Given the description of an element on the screen output the (x, y) to click on. 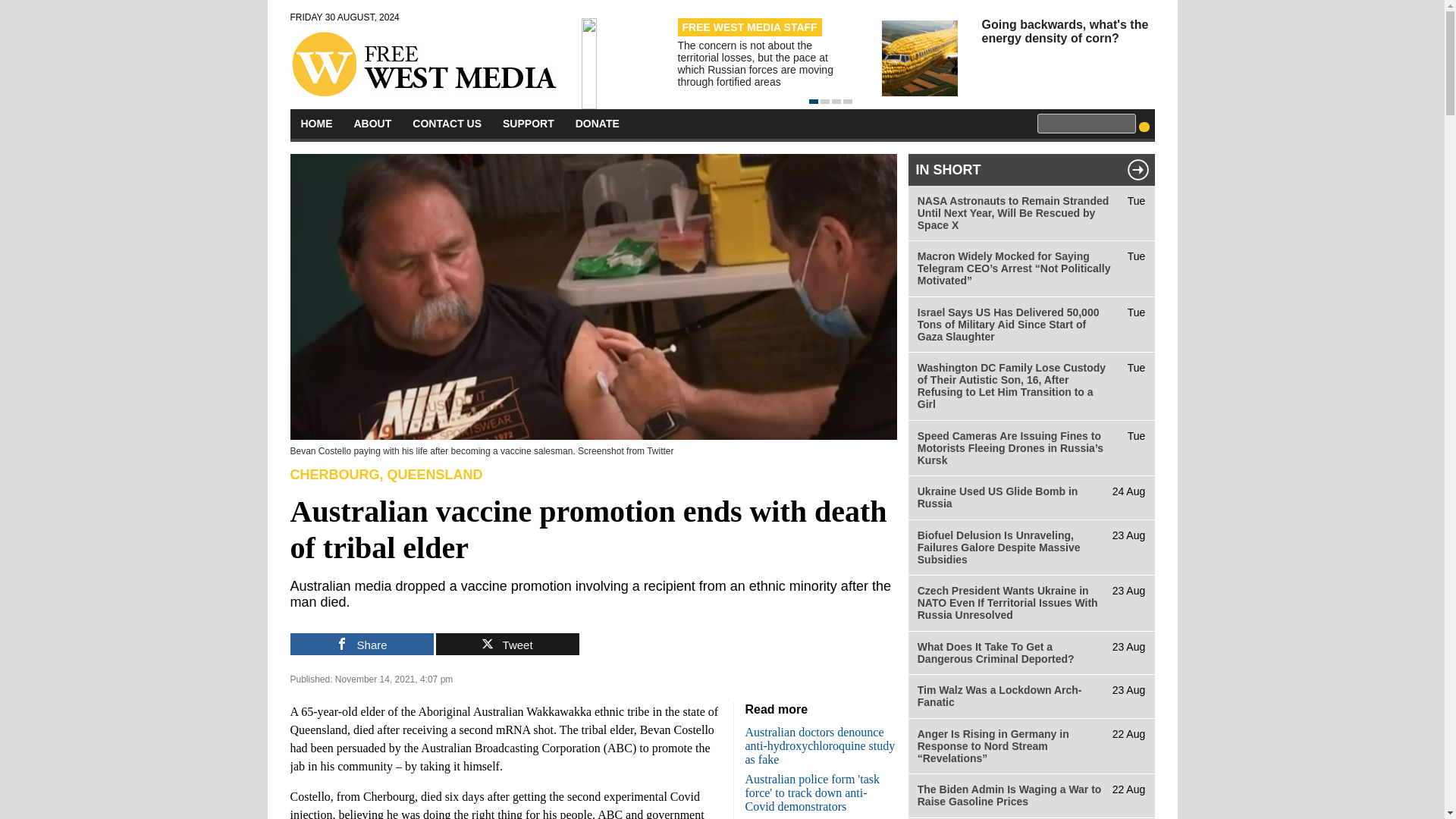
1 (812, 101)
DONATE (597, 123)
CONTACT US (446, 123)
Share (360, 644)
Tweet (506, 644)
SUPPORT (528, 123)
ABOUT (372, 123)
